Given the description of an element on the screen output the (x, y) to click on. 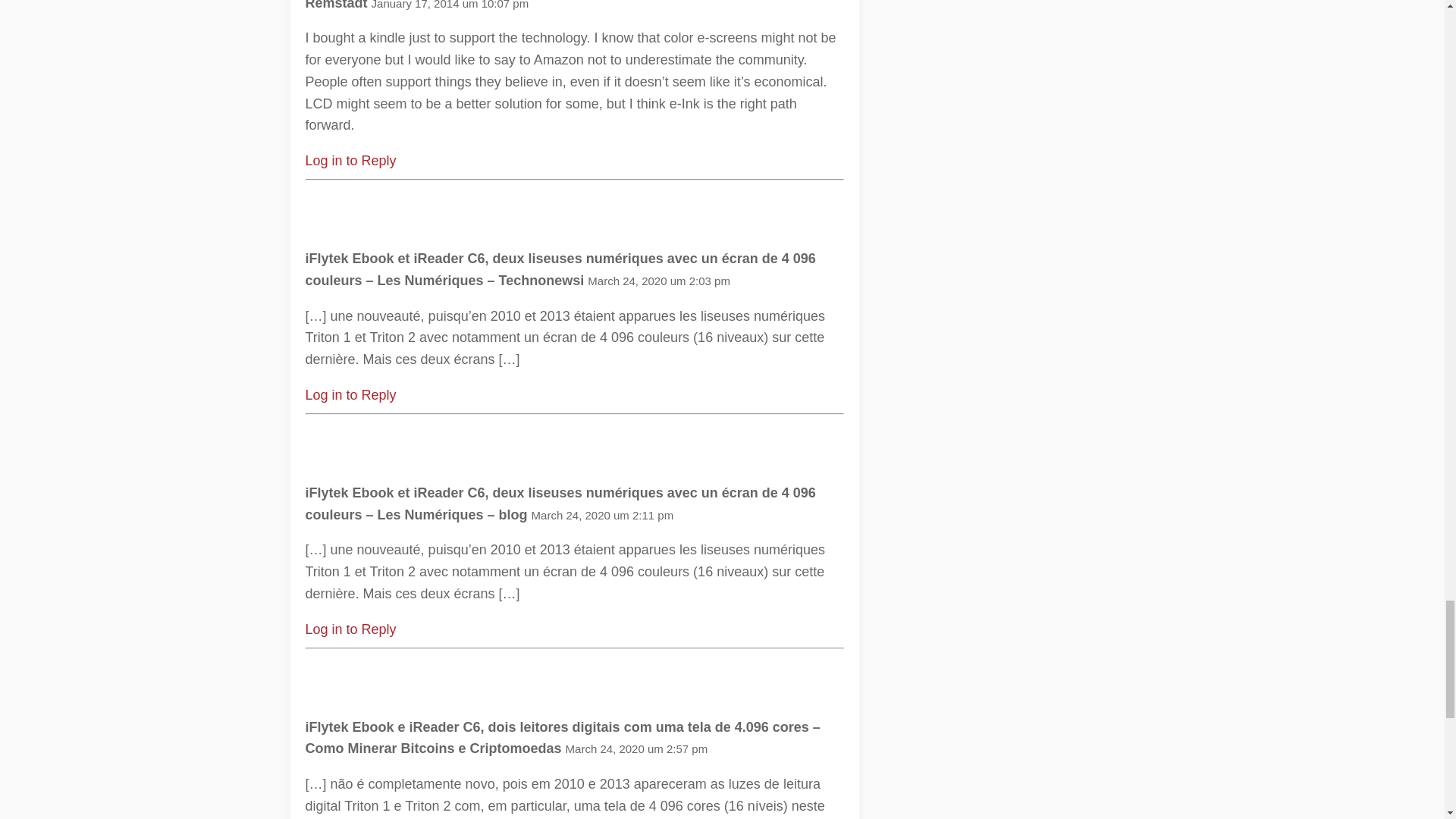
Log in to Reply (350, 394)
Log in to Reply (350, 160)
Log in to Reply (350, 629)
